Given the description of an element on the screen output the (x, y) to click on. 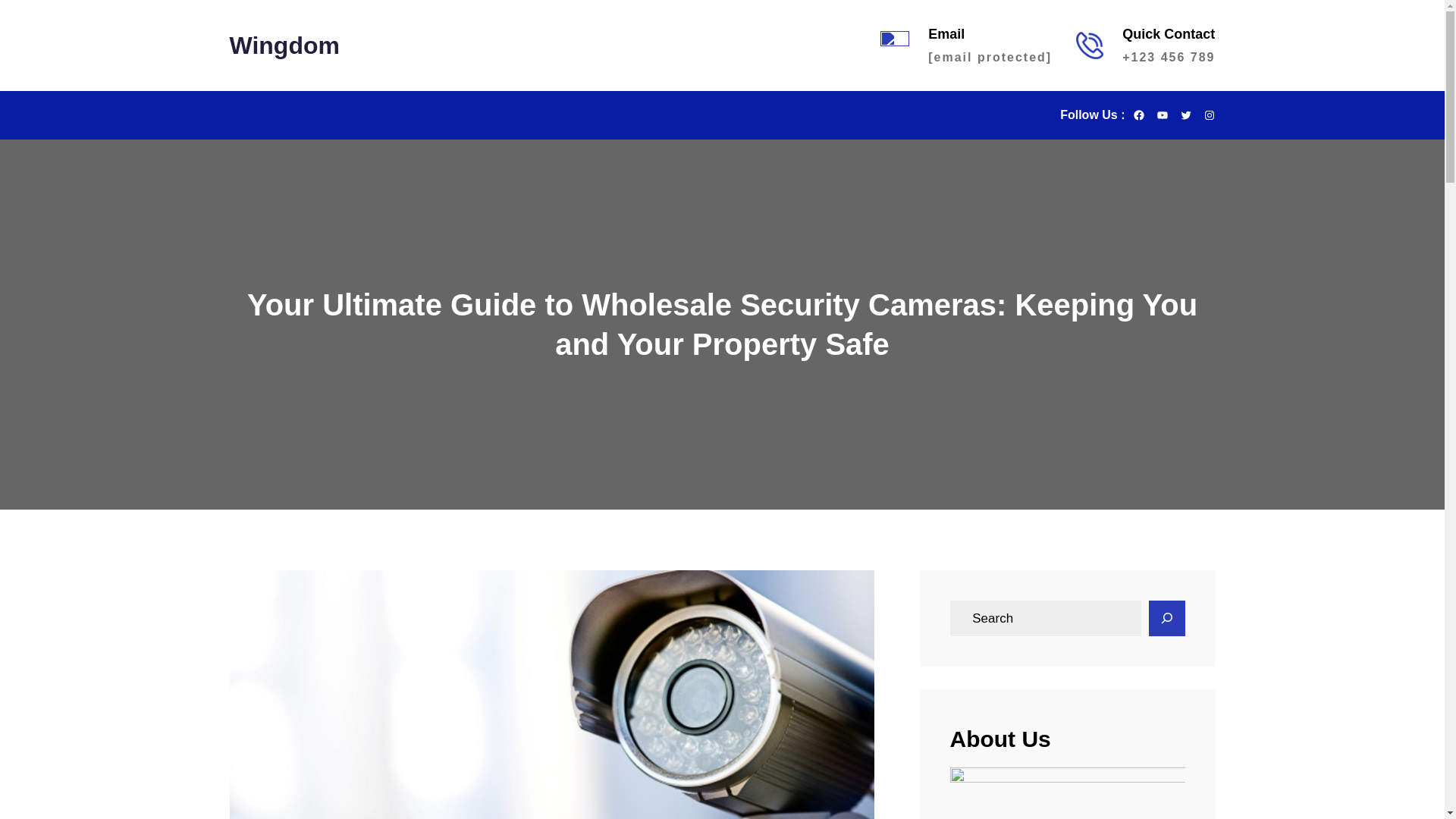
YouTube (1161, 114)
Instagram (1208, 114)
Wingdom (283, 47)
Facebook (1138, 114)
Twitter (1185, 114)
